Given the description of an element on the screen output the (x, y) to click on. 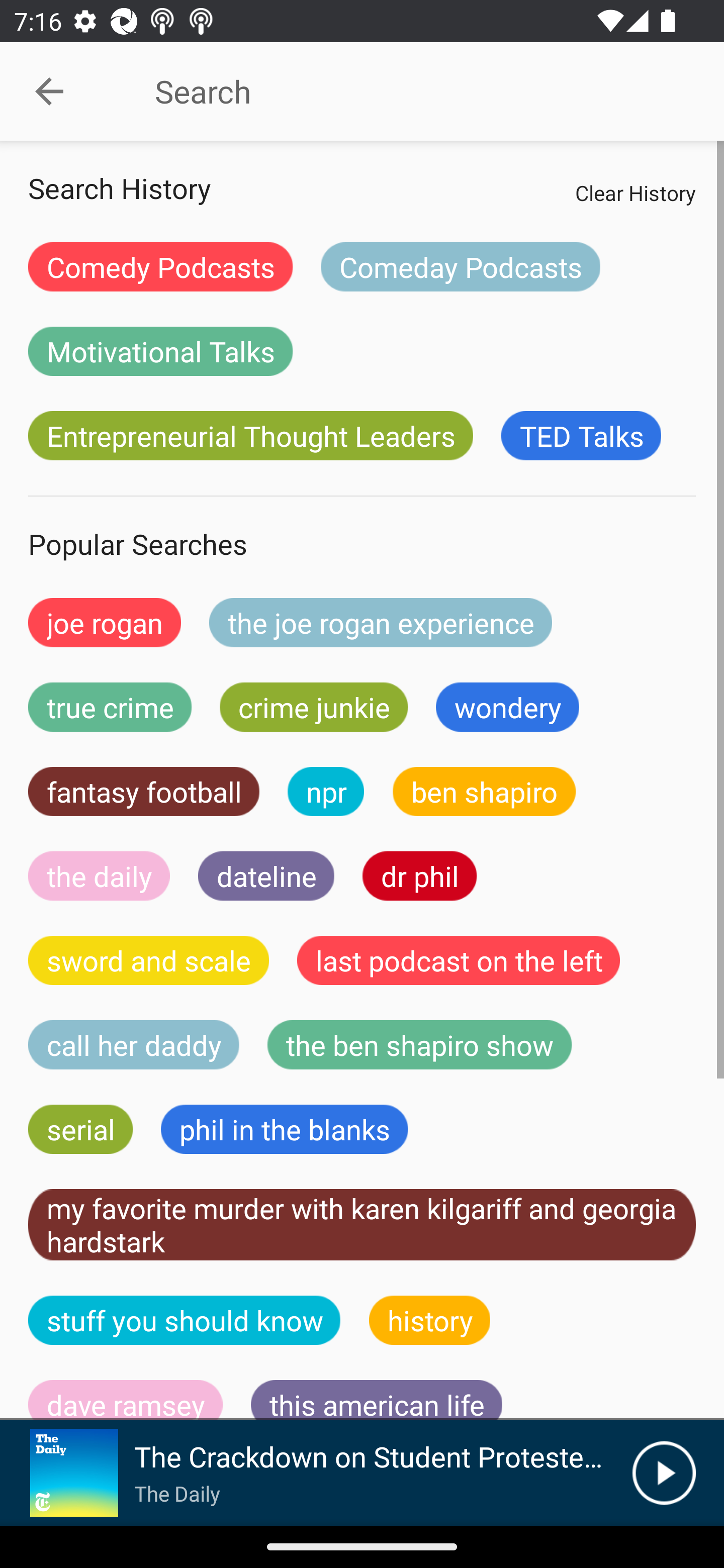
Collapse (49, 91)
Search (407, 91)
Clear History (634, 192)
Comedy Podcasts (160, 266)
Comeday Podcasts (460, 266)
Motivational Talks (160, 351)
Entrepreneurial Thought Leaders (250, 435)
TED Talks (581, 435)
joe rogan (104, 622)
the joe rogan experience (380, 622)
true crime (109, 707)
crime junkie (313, 707)
wondery (507, 707)
fantasy football (143, 791)
npr (325, 791)
ben shapiro (483, 791)
the daily (99, 875)
dateline (266, 875)
dr phil (419, 875)
sword and scale (148, 960)
last podcast on the left (458, 960)
call her daddy (133, 1044)
the ben shapiro show (419, 1044)
serial (80, 1128)
phil in the blanks (283, 1128)
stuff you should know (184, 1320)
history (429, 1320)
dave ramsey (125, 1399)
this american life (376, 1399)
Play (663, 1472)
